Given the description of an element on the screen output the (x, y) to click on. 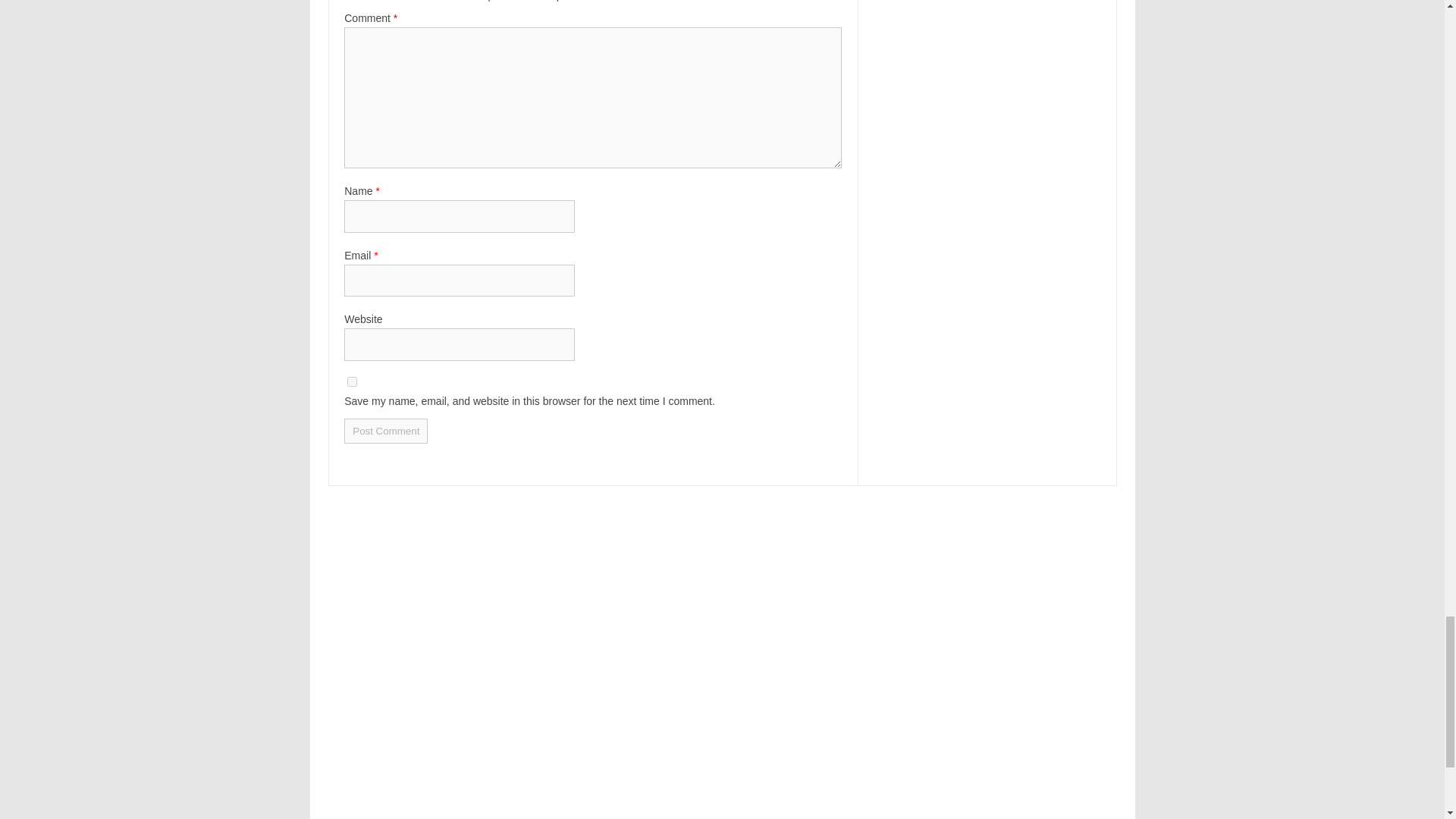
Post Comment (385, 430)
yes (351, 381)
Post Comment (385, 430)
